Given the description of an element on the screen output the (x, y) to click on. 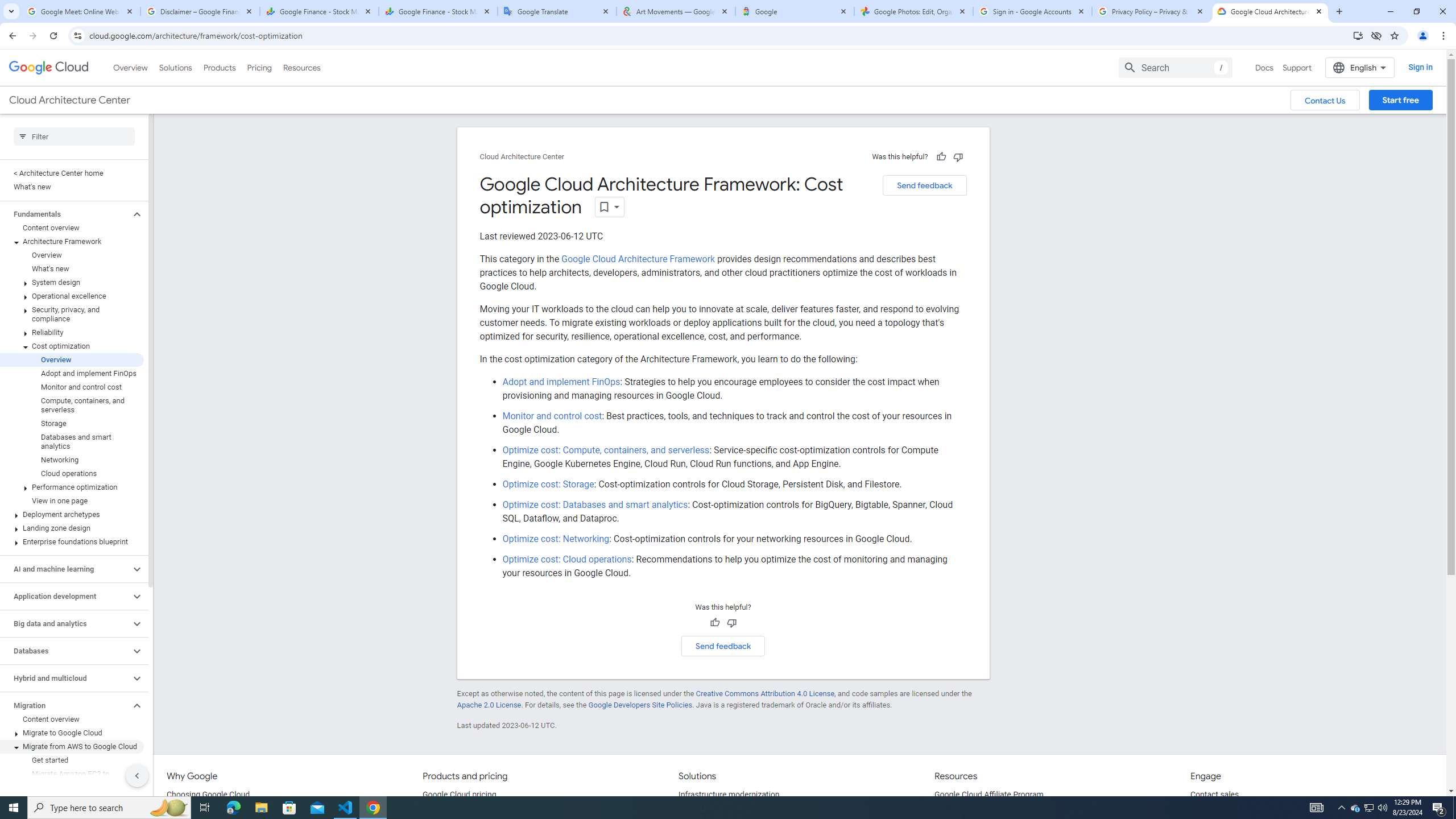
Landing zone design (72, 527)
Deployment archetypes (72, 514)
What's new (72, 269)
Optimize cost: Compute, containers, and serverless (606, 449)
Contact Us (1324, 100)
Storage (72, 423)
Install Google Cloud (1358, 35)
Compute, containers, and serverless (72, 404)
Databases and smart analytics (72, 441)
Google Cloud Affiliate Program (988, 795)
Adopt and implement FinOps (561, 381)
Migrate to Google Cloud (72, 732)
Hybrid and multicloud (64, 678)
